Given the description of an element on the screen output the (x, y) to click on. 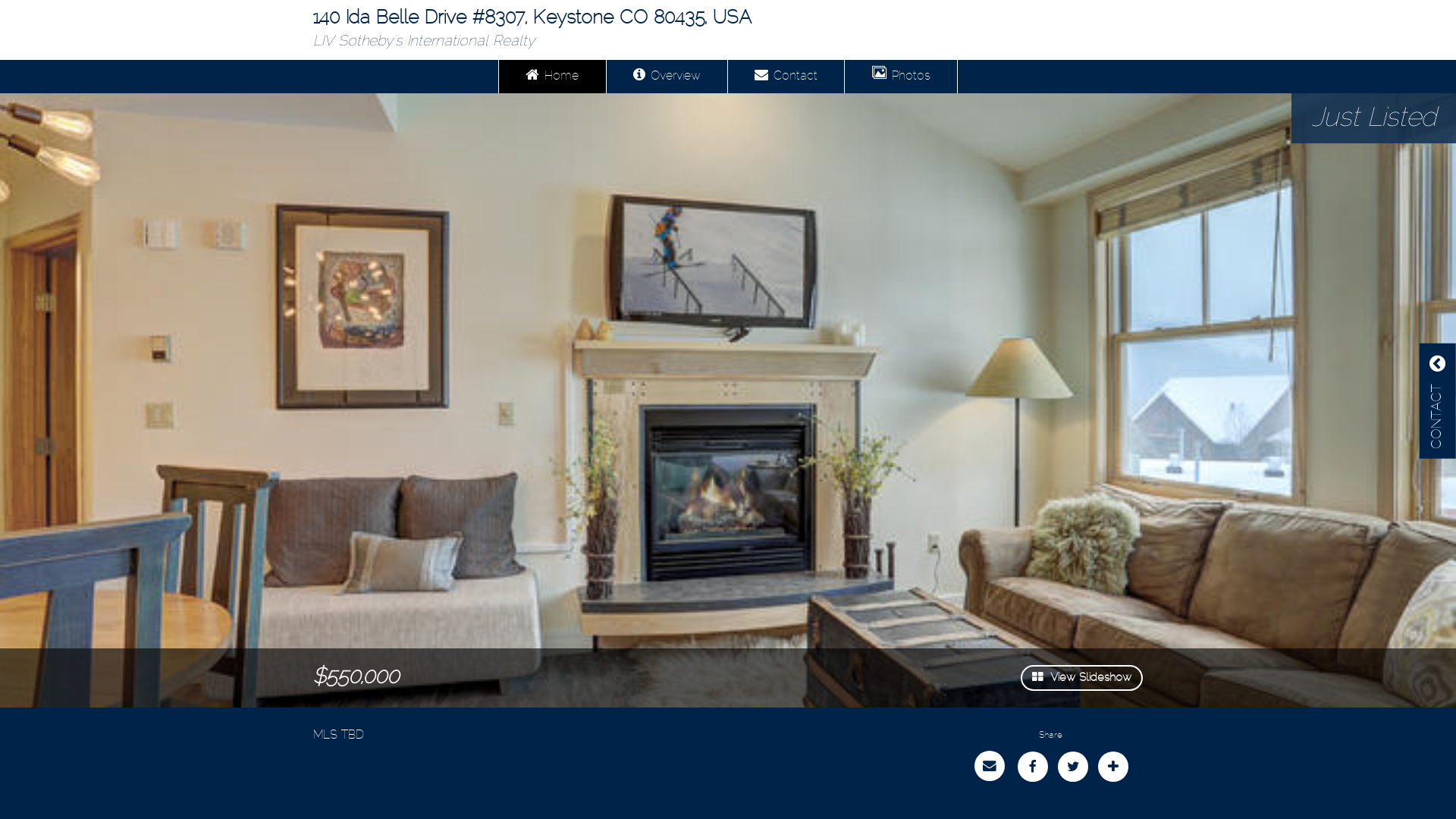
Home Element type: text (551, 76)
Photos Element type: text (900, 76)
Contact Element type: text (786, 76)
Overview Element type: text (666, 76)
